Given the description of an element on the screen output the (x, y) to click on. 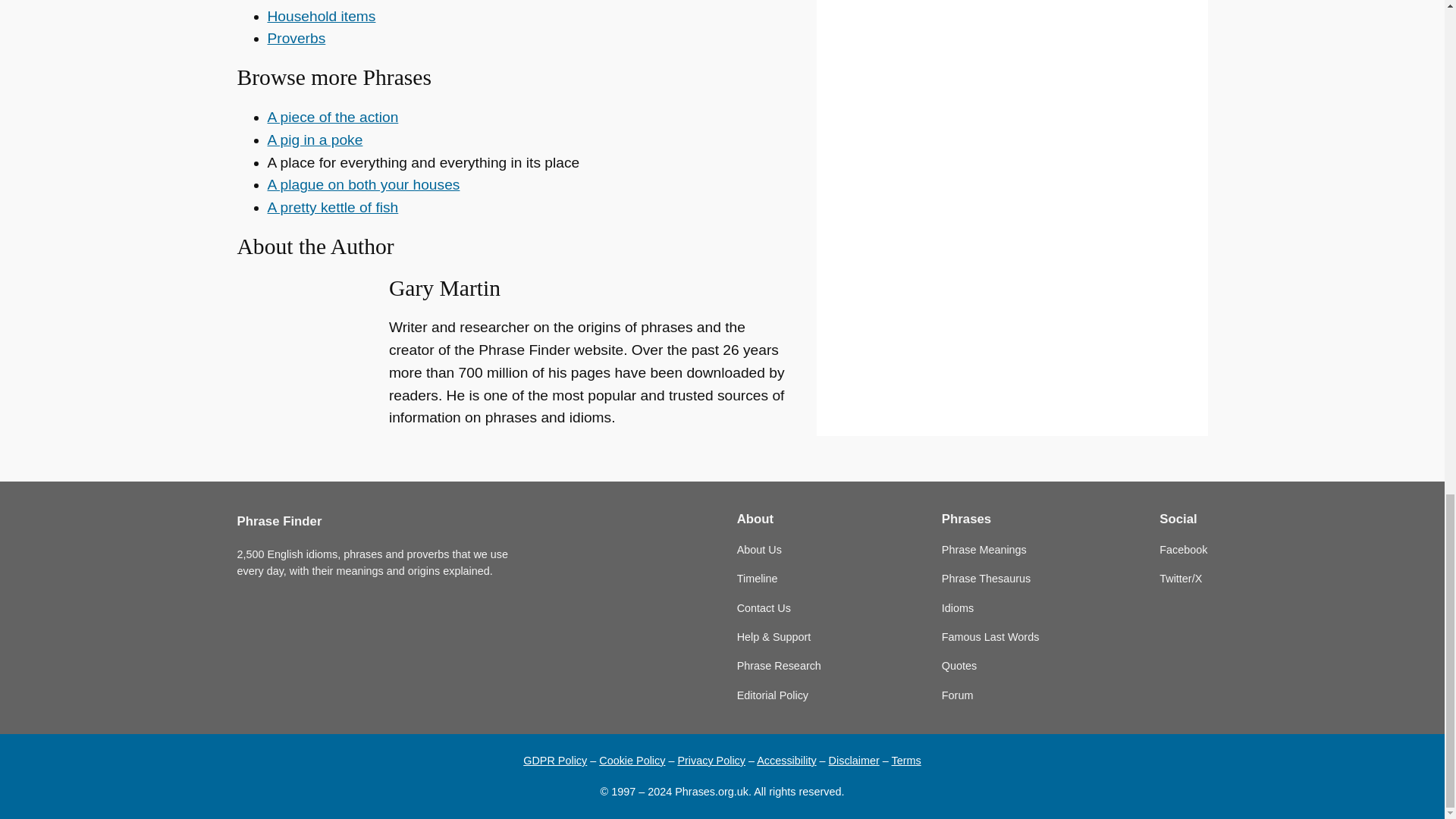
Proverbs (295, 37)
A plague on both your houses (363, 184)
A pig in a poke (314, 139)
A pig in a poke (314, 139)
Household items (320, 16)
A plague on both your houses (363, 184)
Household items (320, 16)
A piece of the action (331, 116)
A pretty kettle of fish (331, 207)
A pretty kettle of fish (331, 207)
